Given the description of an element on the screen output the (x, y) to click on. 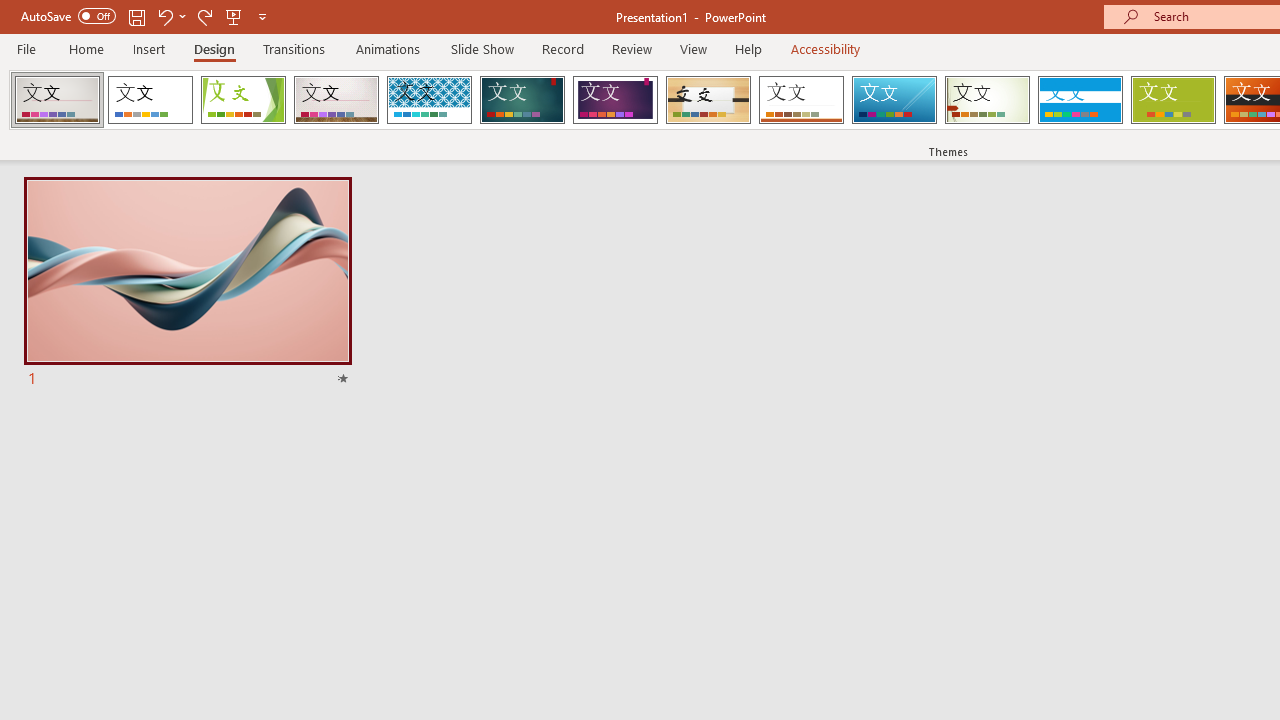
Ion (522, 100)
Ion Boardroom (615, 100)
Basis (1172, 100)
